Given the description of an element on the screen output the (x, y) to click on. 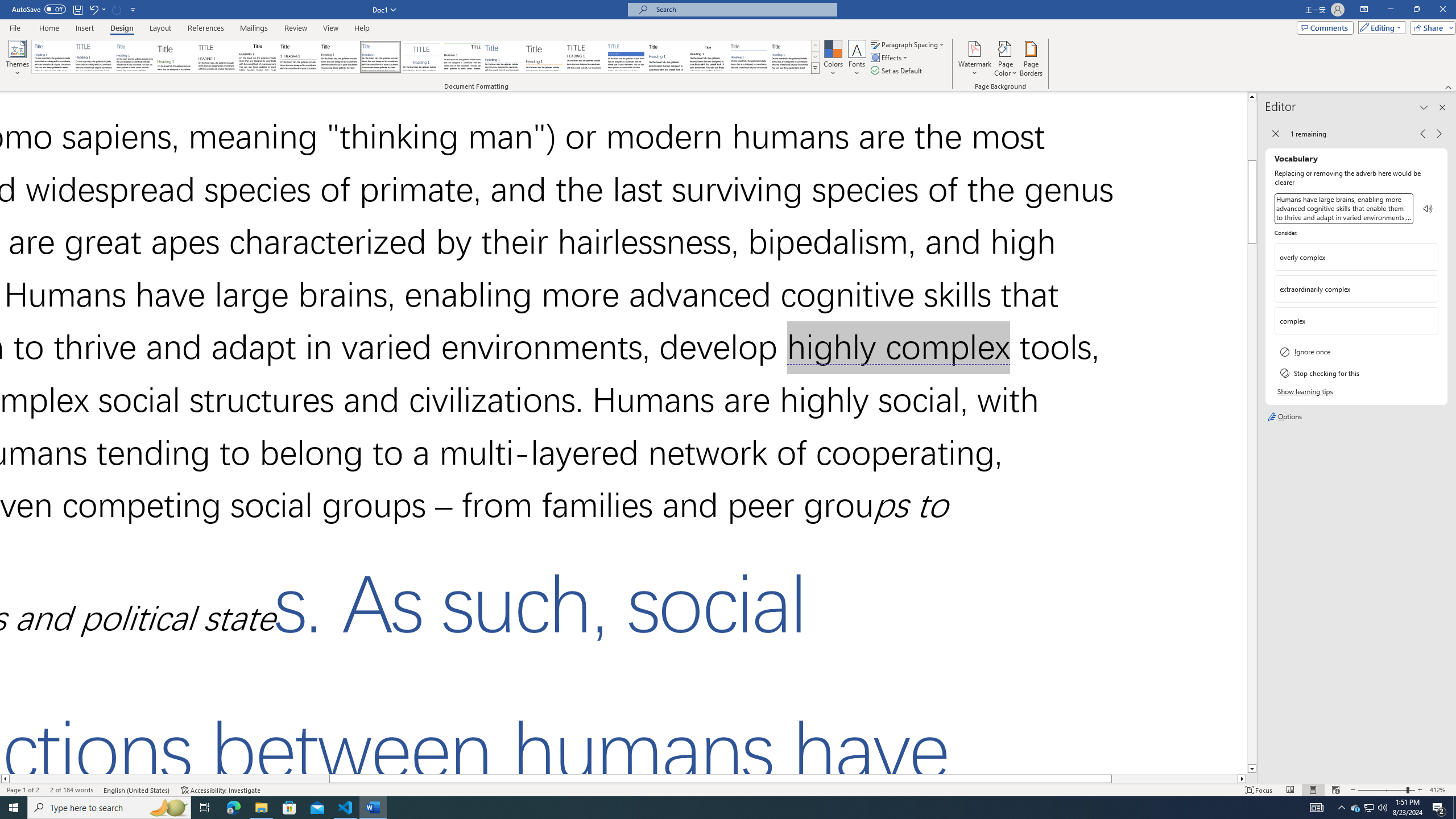
Column left (5, 778)
Print Layout (1312, 790)
Class: NetUIImage (815, 68)
Row Down (814, 56)
Document (52, 56)
Design (122, 28)
Zoom In (1420, 790)
overly complex (1356, 257)
Basic (Elegant) (93, 56)
Options (1356, 416)
Page Borders... (1031, 58)
